Given the description of an element on the screen output the (x, y) to click on. 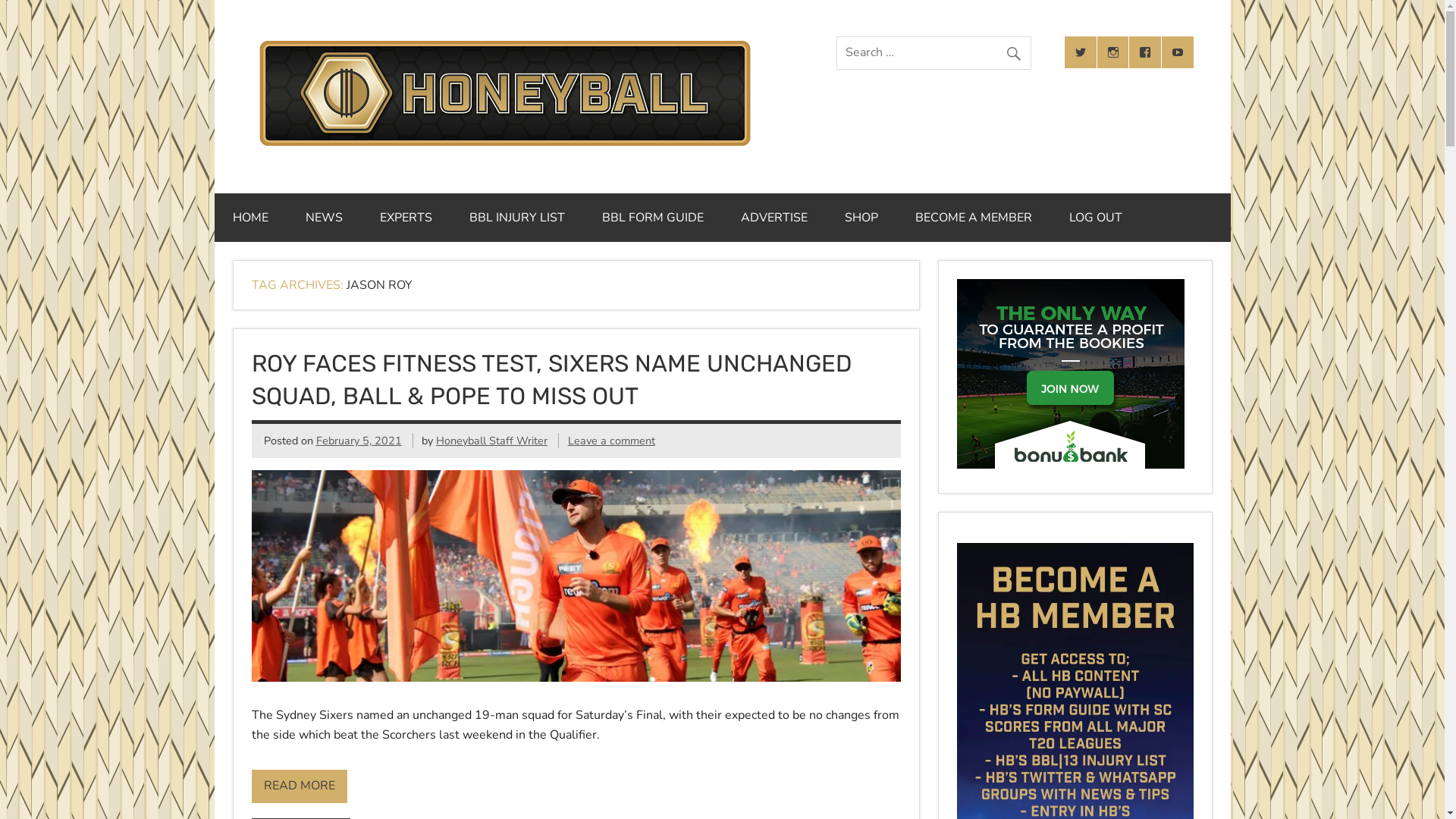
YouTube Element type: text (1177, 52)
Facebook Element type: text (1145, 52)
BBL INJURY LIST Element type: text (516, 217)
Honeyball Element type: hover (504, 146)
EXPERTS Element type: text (404, 217)
BBL FORM GUIDE Element type: text (652, 217)
February 5, 2021 Element type: text (358, 440)
Leave a comment Element type: text (611, 440)
ADVERTISE Element type: text (773, 217)
Instagram Element type: text (1113, 52)
BECOME A MEMBER Element type: text (972, 217)
NEWS Element type: text (323, 217)
READ MORE Element type: text (299, 786)
HOME Element type: text (249, 217)
SHOP Element type: text (861, 217)
LOG OUT Element type: text (1095, 217)
Honeyball Staff Writer Element type: text (491, 440)
Twitter Element type: text (1080, 52)
